Given the description of an element on the screen output the (x, y) to click on. 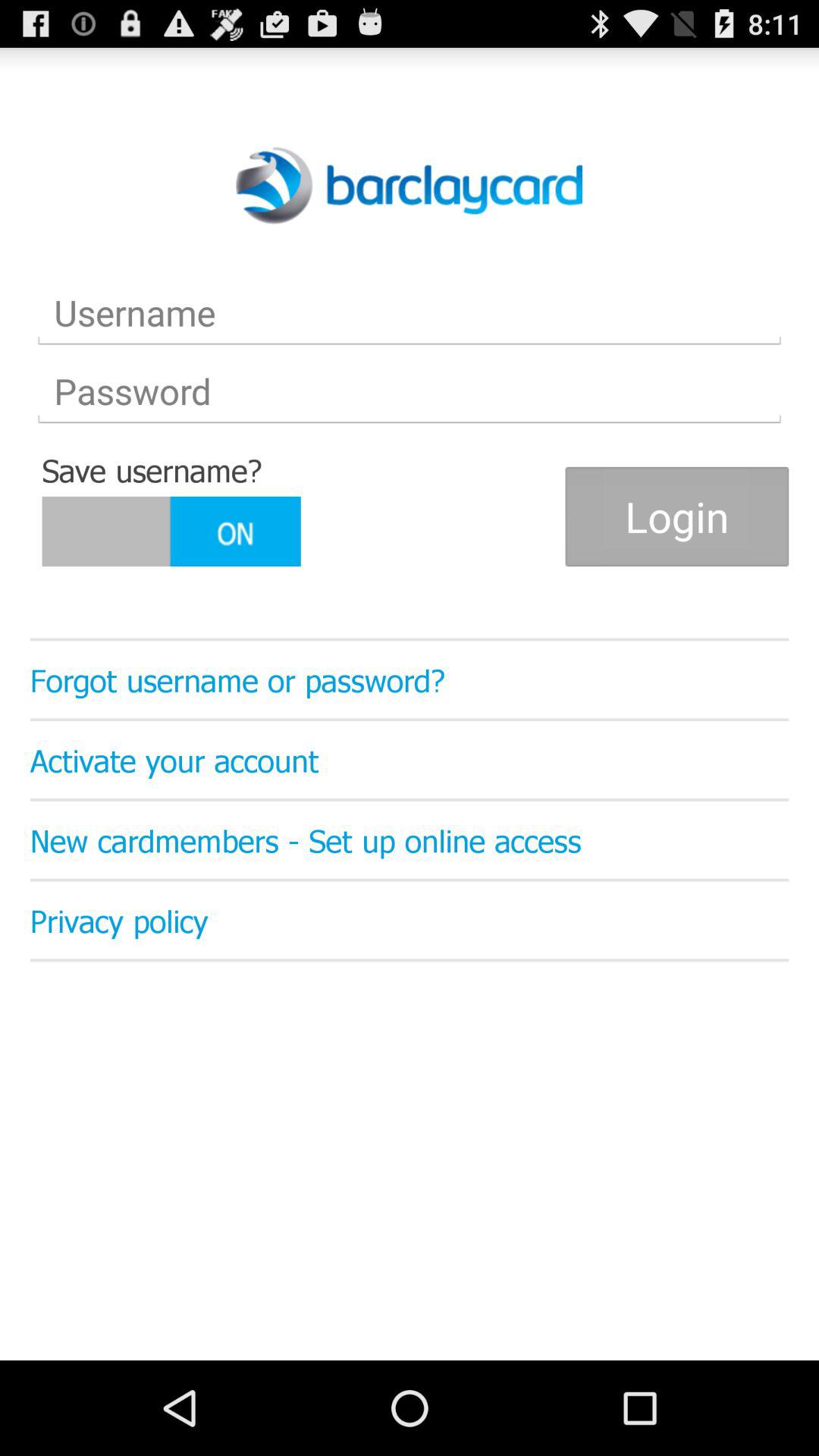
jump to the activate your account (409, 759)
